Given the description of an element on the screen output the (x, y) to click on. 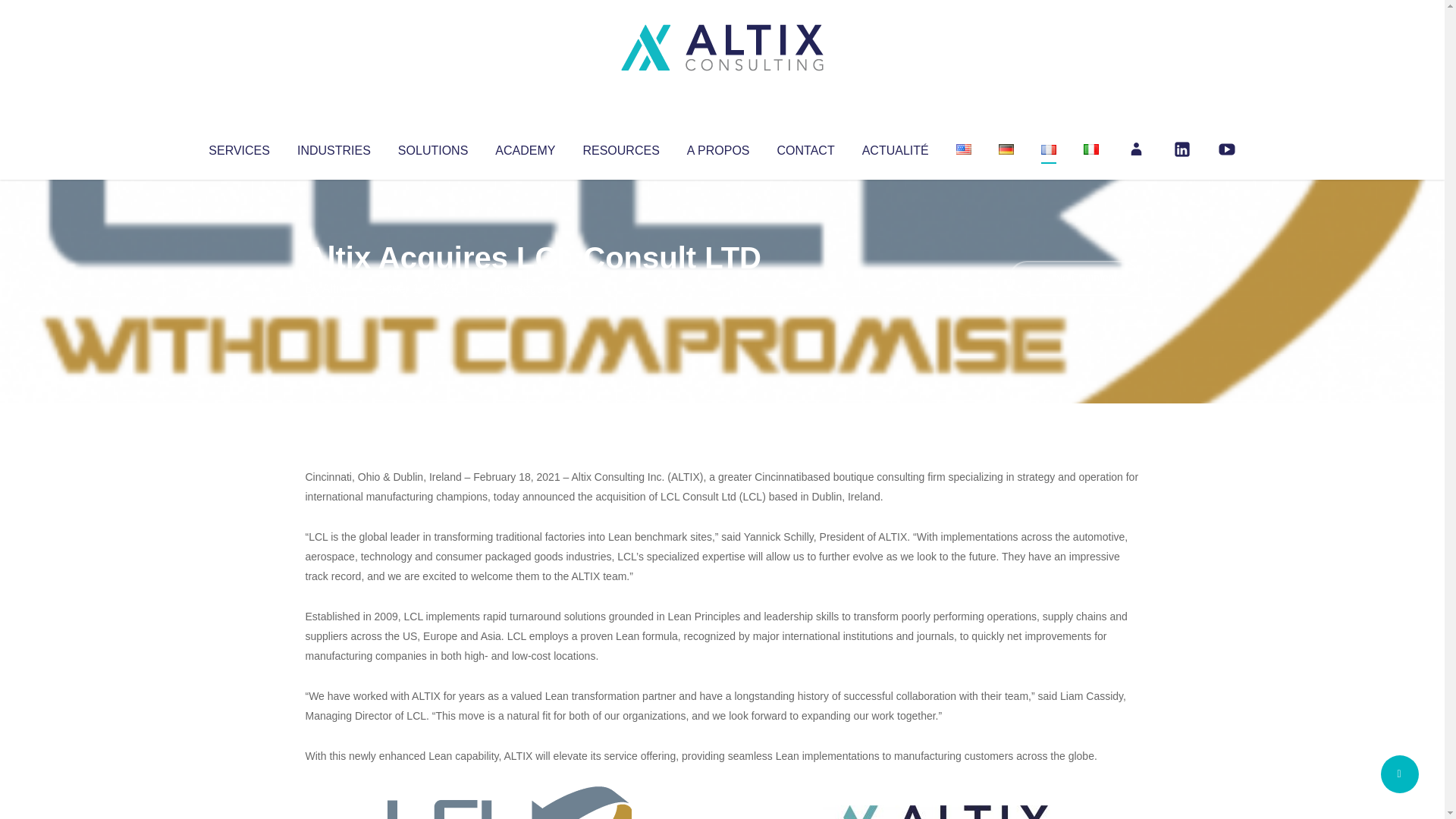
SOLUTIONS (432, 146)
INDUSTRIES (334, 146)
Uncategorized (530, 287)
Altix (333, 287)
No Comments (1073, 278)
SERVICES (238, 146)
Articles par Altix (333, 287)
ACADEMY (524, 146)
A PROPOS (718, 146)
RESOURCES (620, 146)
